Given the description of an element on the screen output the (x, y) to click on. 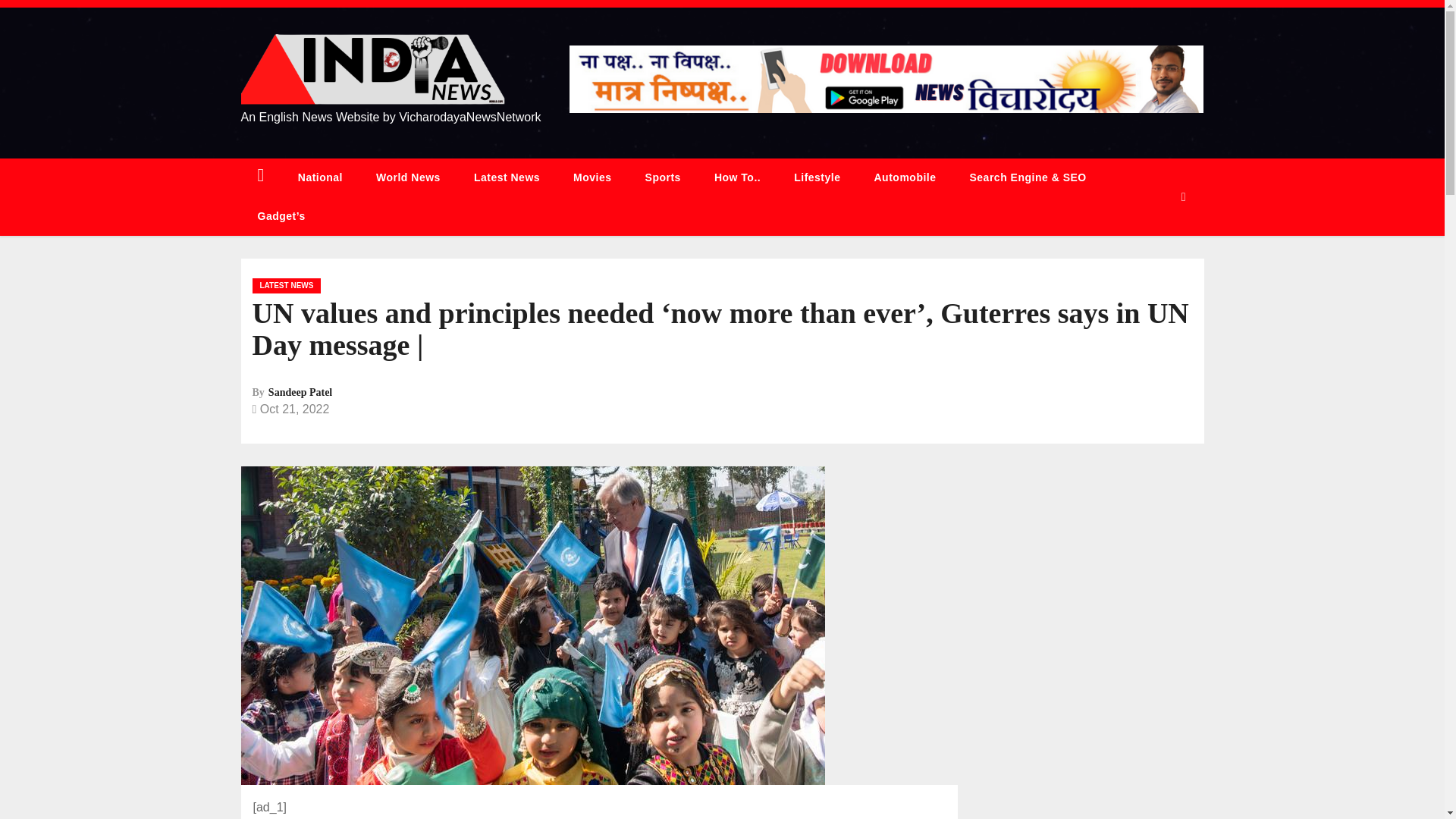
National (320, 177)
Sports (662, 177)
World News (408, 177)
LATEST NEWS (285, 285)
World News (408, 177)
Lifestyle (817, 177)
How To.. (737, 177)
Home (261, 177)
Sports (662, 177)
Gadget's (281, 216)
Movies (591, 177)
Automobile (904, 177)
Sandeep Patel (299, 392)
Automobile (904, 177)
National (320, 177)
